Given the description of an element on the screen output the (x, y) to click on. 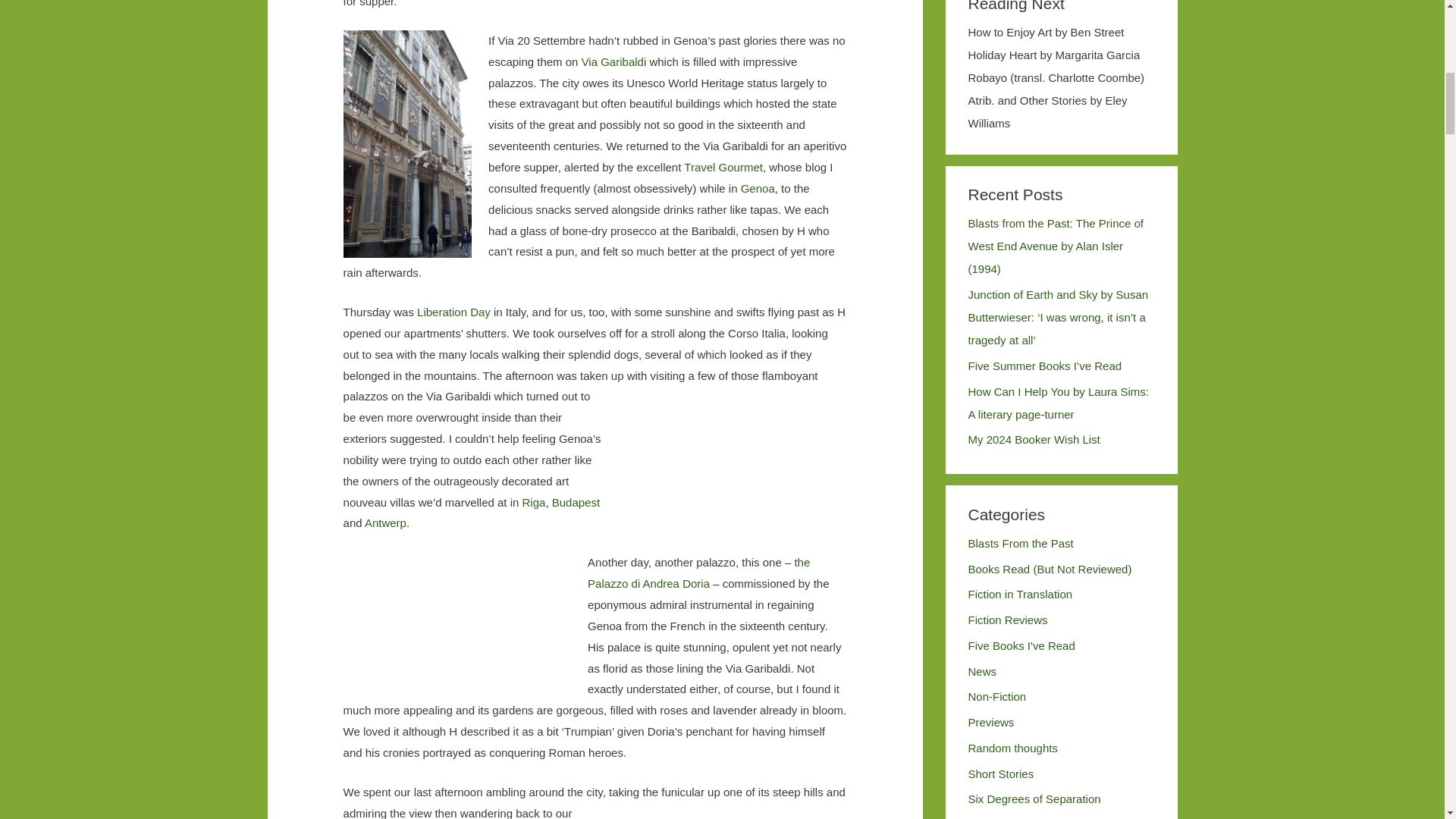
Via Garibaldi (613, 61)
Antwerp (385, 522)
Genoa (757, 187)
Travel Gourmet (723, 166)
Liberation Day (453, 311)
Budapest (575, 502)
Riga (534, 502)
the Palazzo di Andrea Doria (698, 572)
